Given the description of an element on the screen output the (x, y) to click on. 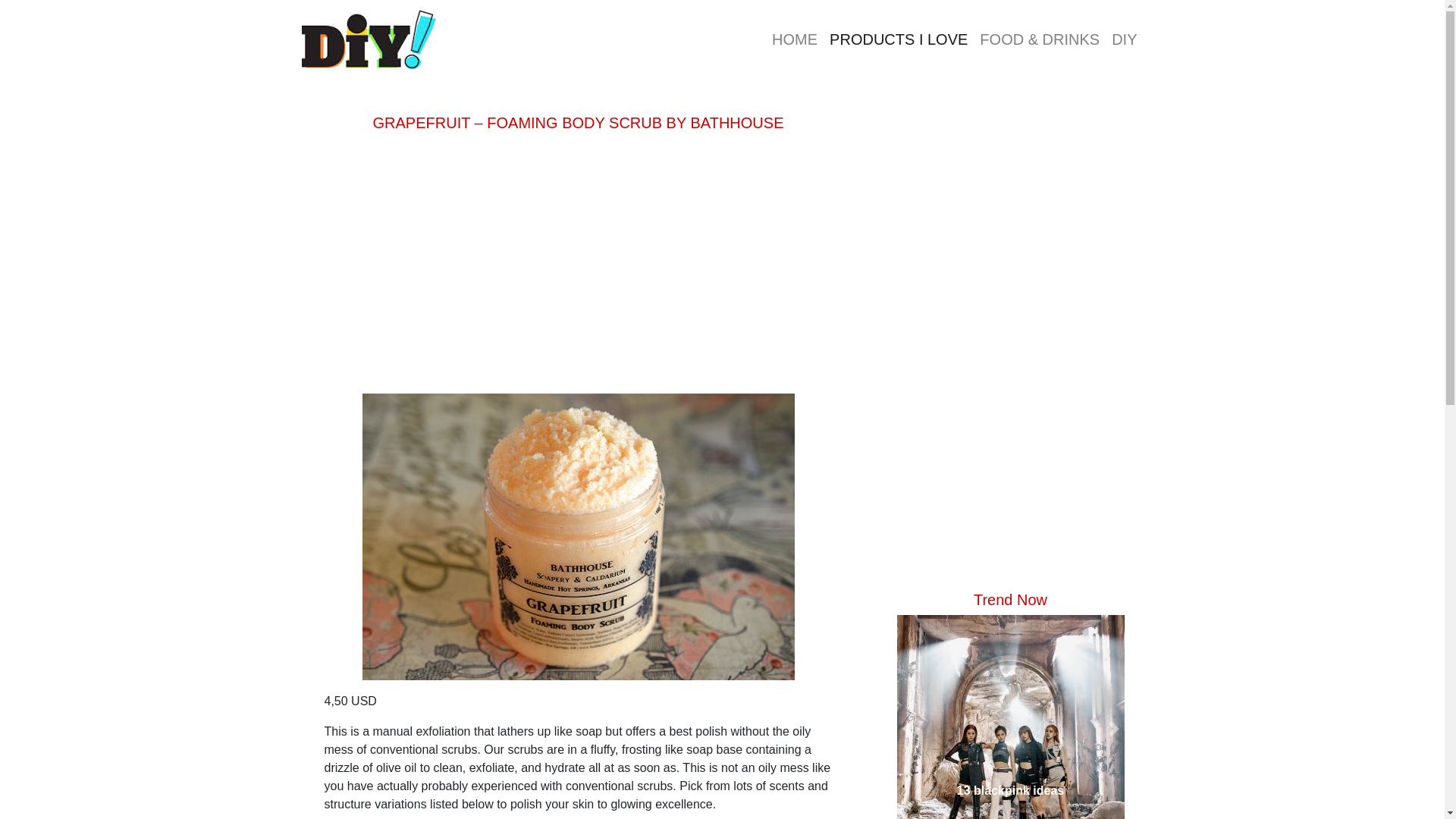
Advertisement (577, 259)
13 blackpink ideas (1009, 791)
PRODUCTS I LOVE (899, 39)
HOME (794, 39)
13 blackpink ideas (1009, 717)
DIY (1123, 39)
glyphicon glyphicon-home (794, 39)
glyphicon glyphicon-paperclip (1123, 39)
13 blackpink ideas (1009, 791)
glyphicon glyphicon-cutlery (1039, 39)
